Given the description of an element on the screen output the (x, y) to click on. 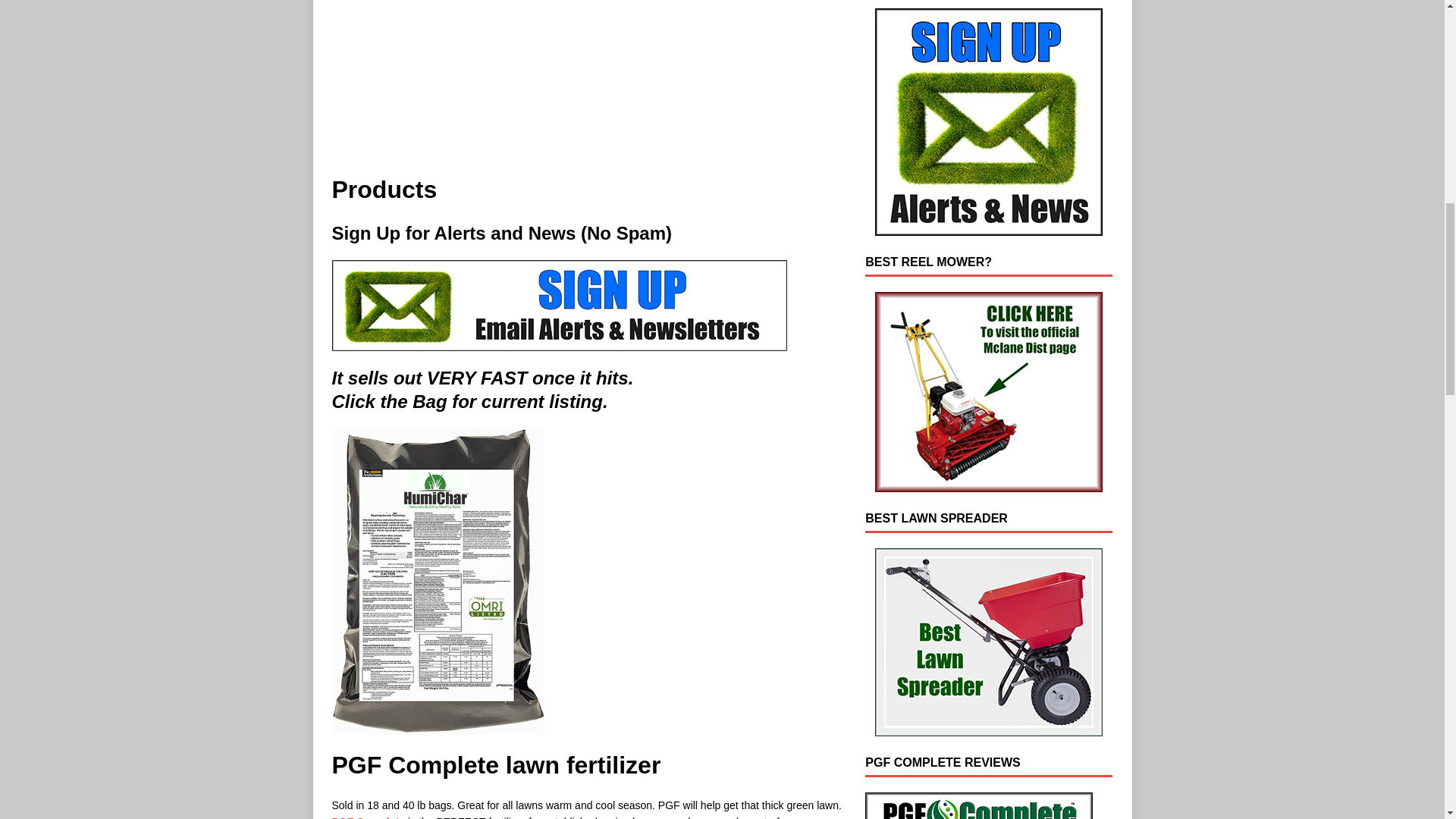
YouTube player (588, 77)
